Given the description of an element on the screen output the (x, y) to click on. 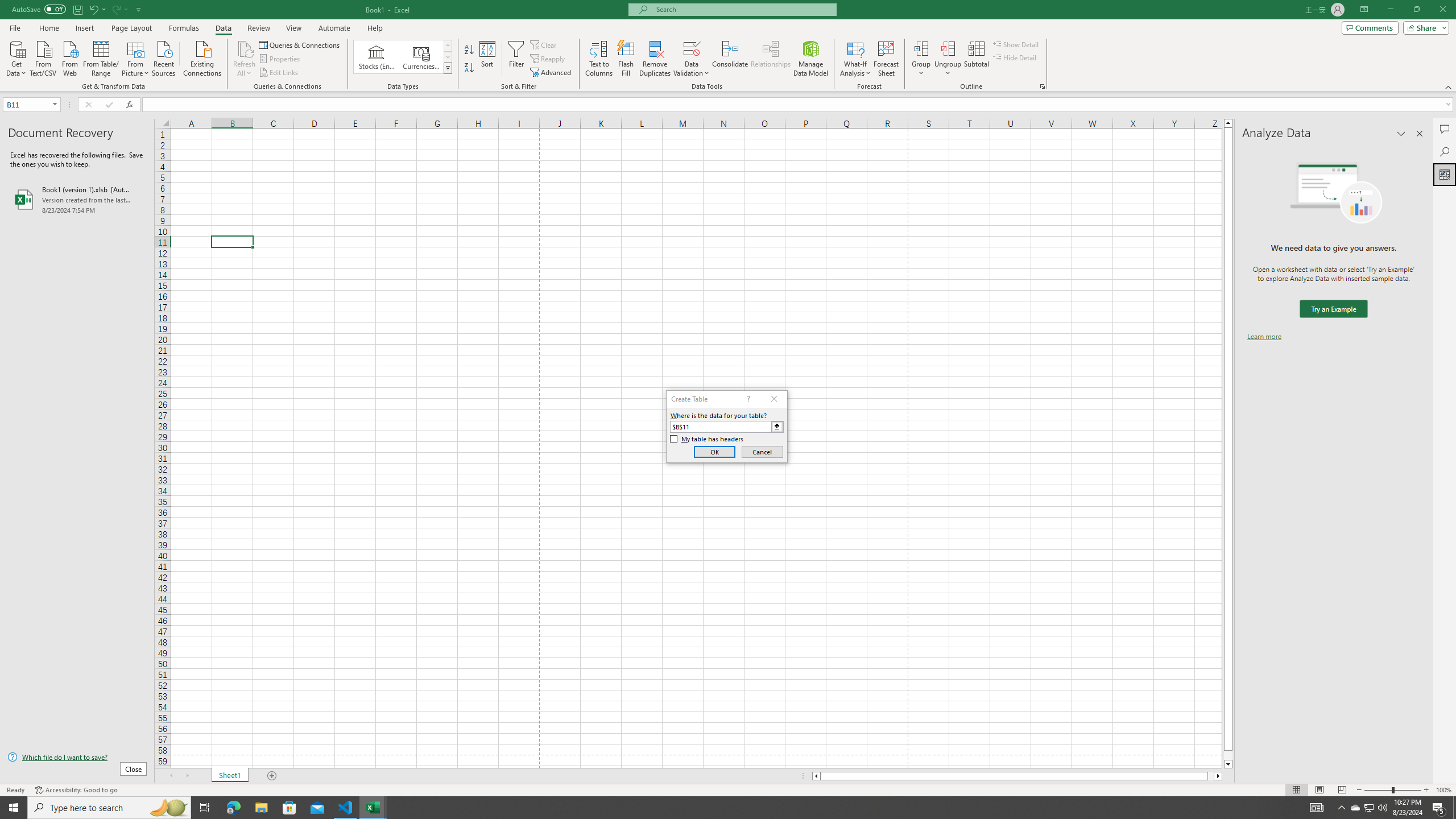
Ungroup... (947, 48)
From Text/CSV (43, 57)
Existing Connections (202, 57)
From Web (69, 57)
Restore Down (1416, 9)
Book1 (version 1).xlsb  [AutoRecovered] (77, 199)
Reapply (548, 58)
Data Types (448, 67)
Formula Bar (799, 104)
Refresh All (244, 58)
Accessibility Checker Accessibility: Good to go (76, 790)
Ribbon Display Options (1364, 9)
